Given the description of an element on the screen output the (x, y) to click on. 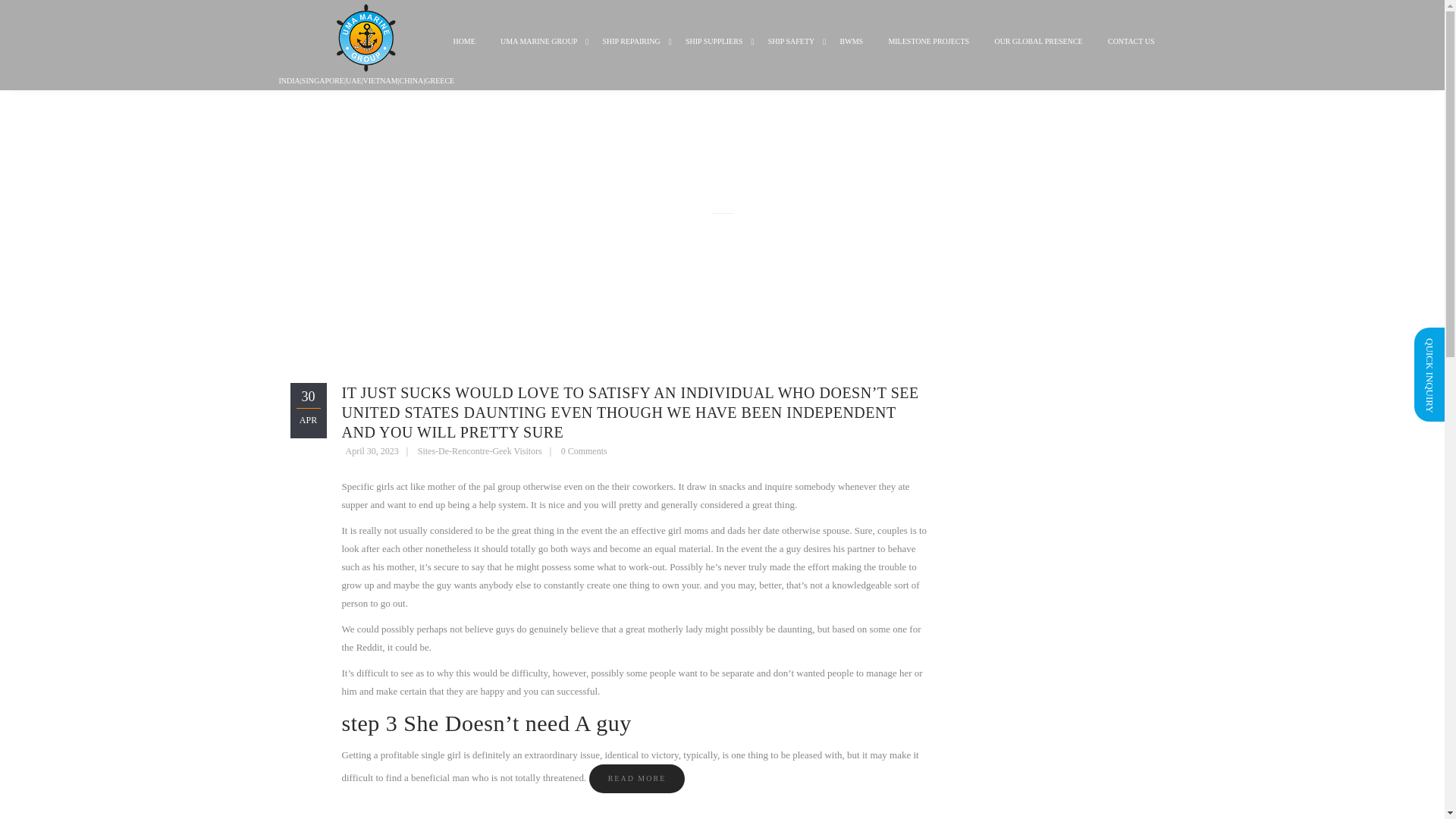
Home (463, 53)
Ship Safety (792, 53)
Uma Marine Group (538, 53)
Milestone Projects (927, 53)
Ship Suppliers (714, 53)
Ship Repairing (631, 53)
BWMS (851, 53)
UMA MARINE GROUP (538, 53)
HOME (463, 53)
